Given the description of an element on the screen output the (x, y) to click on. 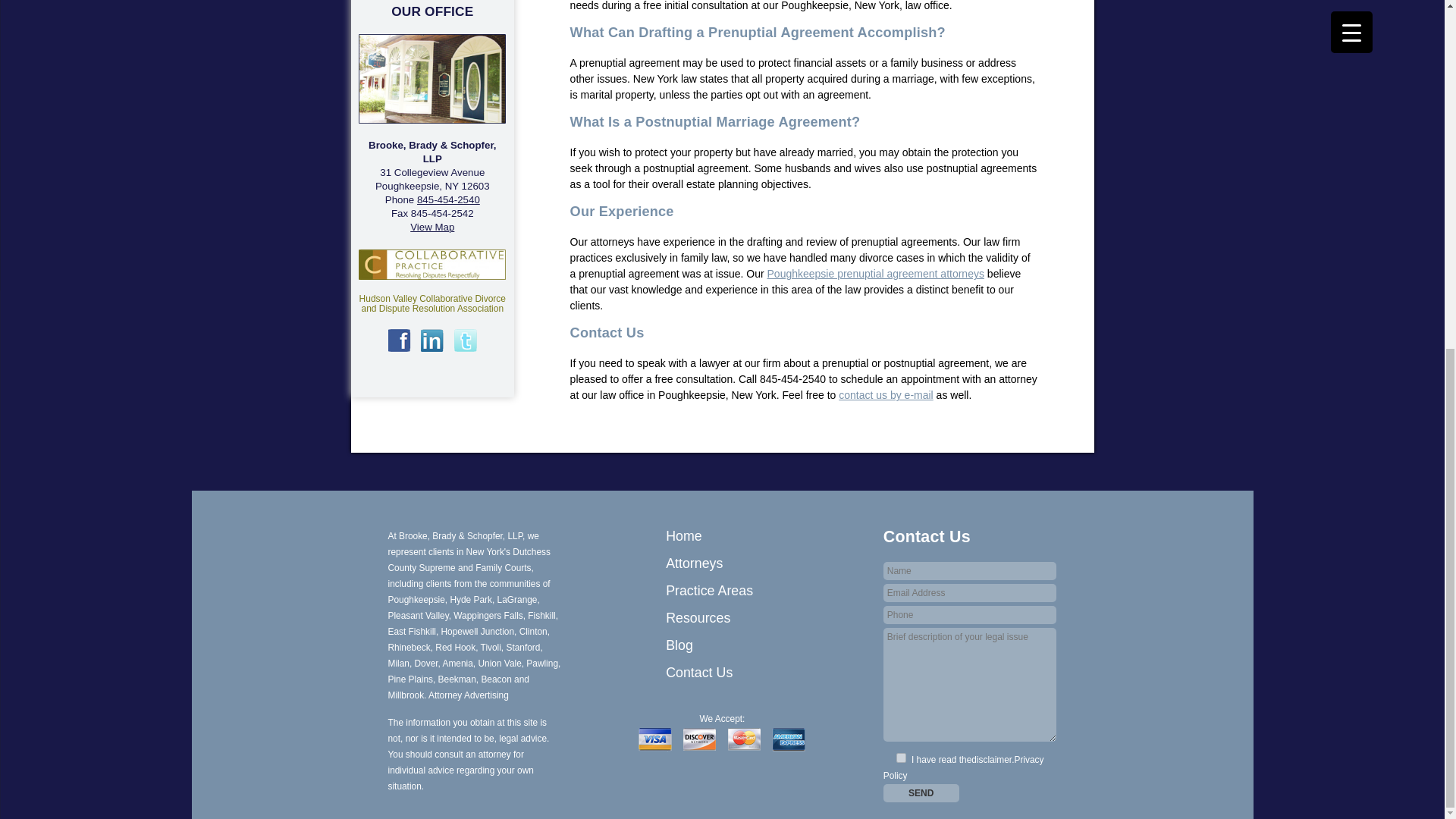
Poughkeepsie prenuptial agreement attorneys (875, 273)
View Map (432, 226)
845-454-2540 (448, 199)
contact us by e-mail (885, 395)
Send (921, 792)
I have read the (901, 757)
